Given the description of an element on the screen output the (x, y) to click on. 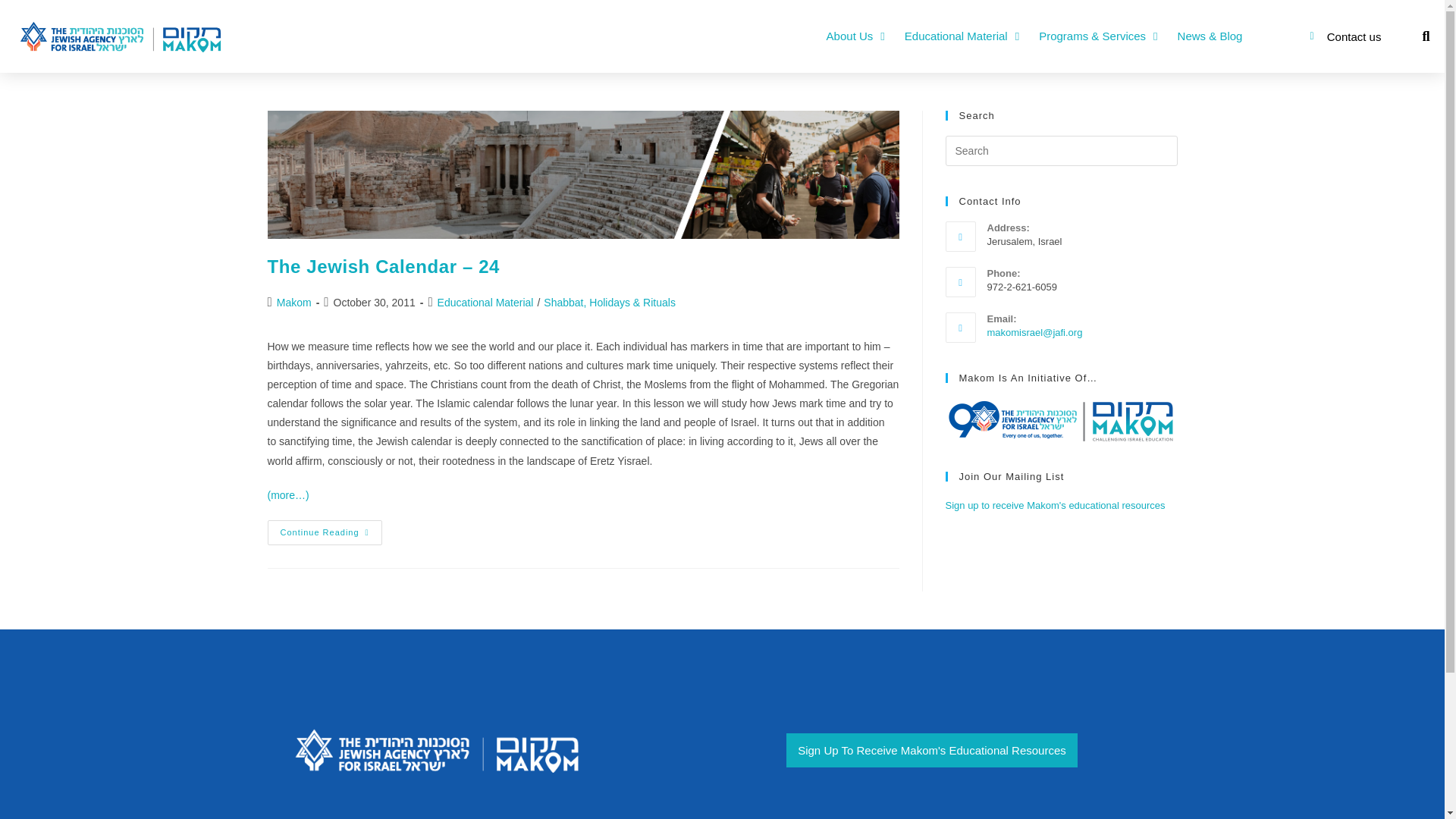
Posts by Makom (293, 302)
About Us (855, 36)
Educational Material (962, 36)
